Given the description of an element on the screen output the (x, y) to click on. 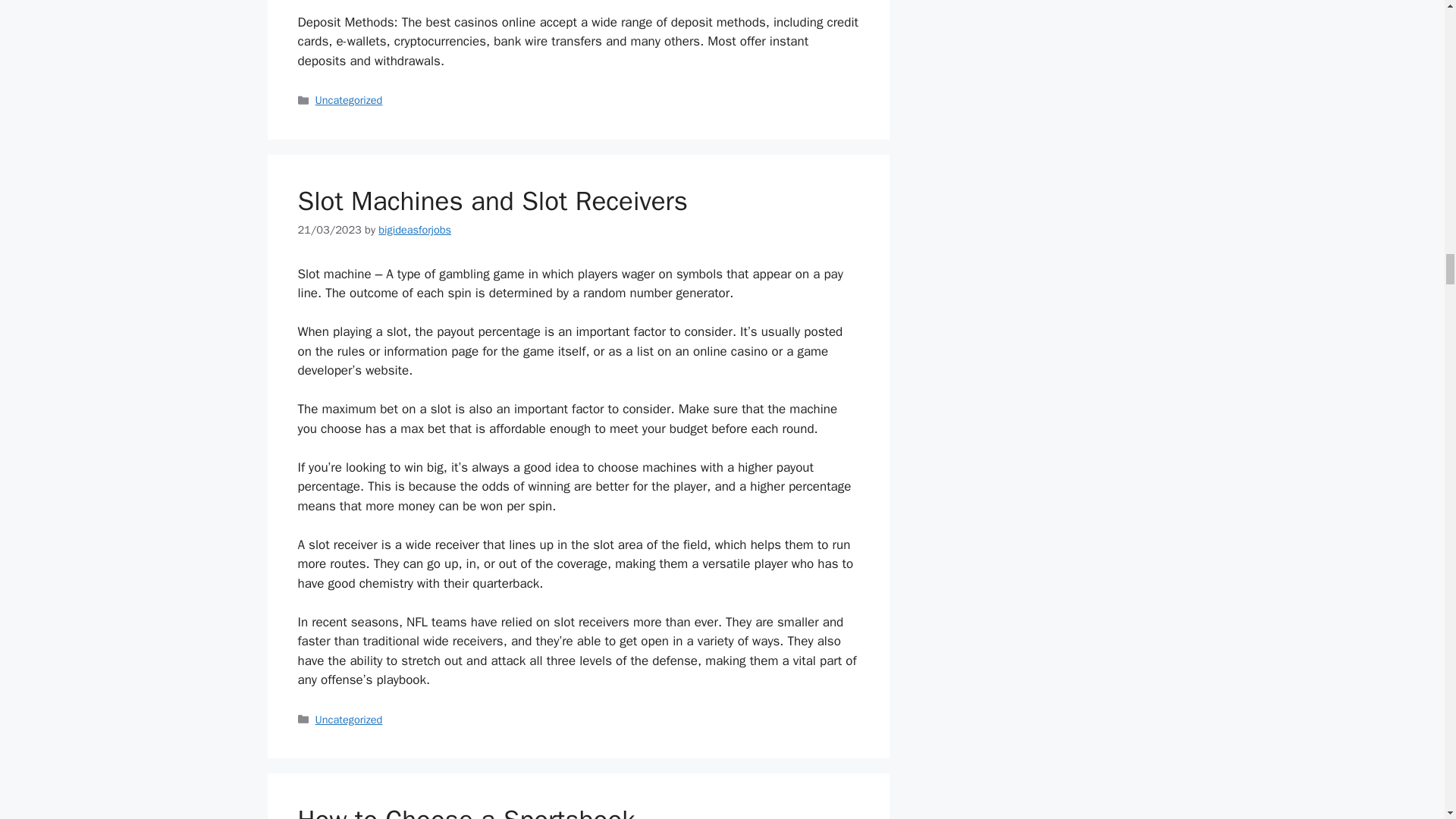
Slot Machines and Slot Receivers (492, 200)
How to Choose a Sportsbook (465, 811)
Uncategorized (348, 100)
bigideasforjobs (414, 229)
Uncategorized (348, 719)
View all posts by bigideasforjobs (414, 229)
